Given the description of an element on the screen output the (x, y) to click on. 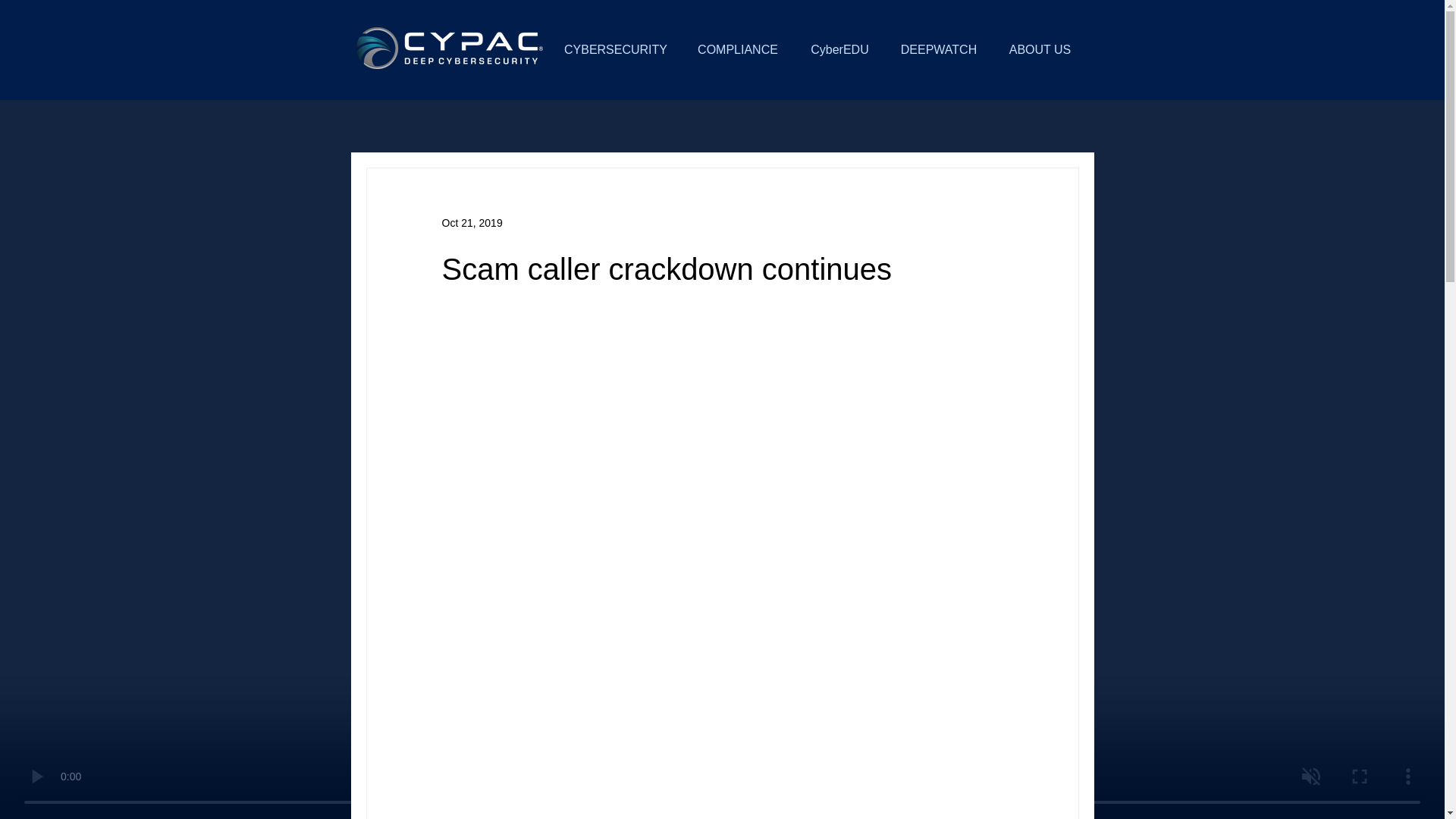
CyberEDU (839, 49)
ABOUT US (1039, 49)
Oct 21, 2019 (471, 223)
DEEPWATCH (938, 49)
remote content (721, 685)
COMPLIANCE (737, 49)
